Given the description of an element on the screen output the (x, y) to click on. 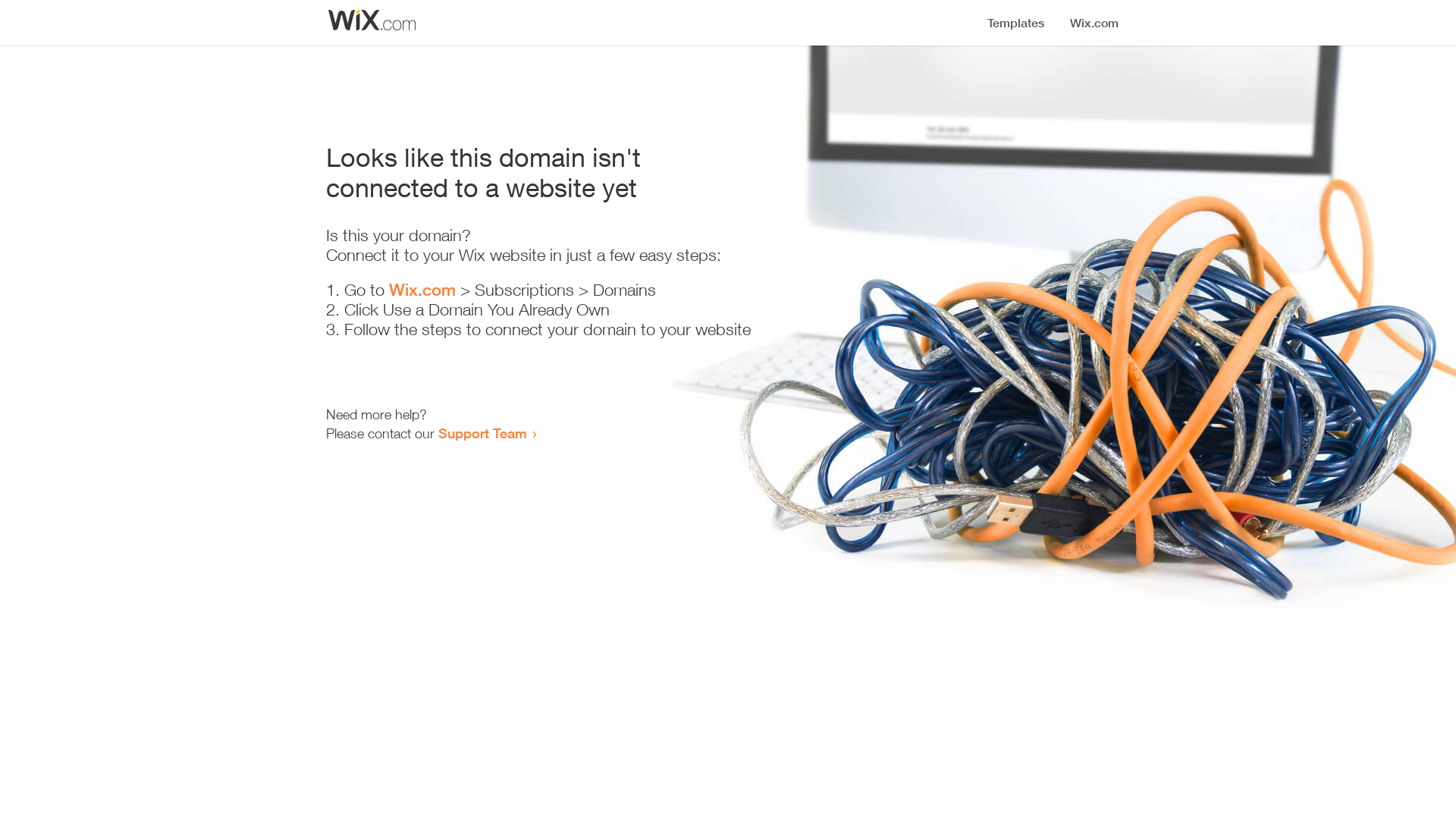
Wix.com Element type: text (422, 289)
Support Team Element type: text (482, 432)
